Given the description of an element on the screen output the (x, y) to click on. 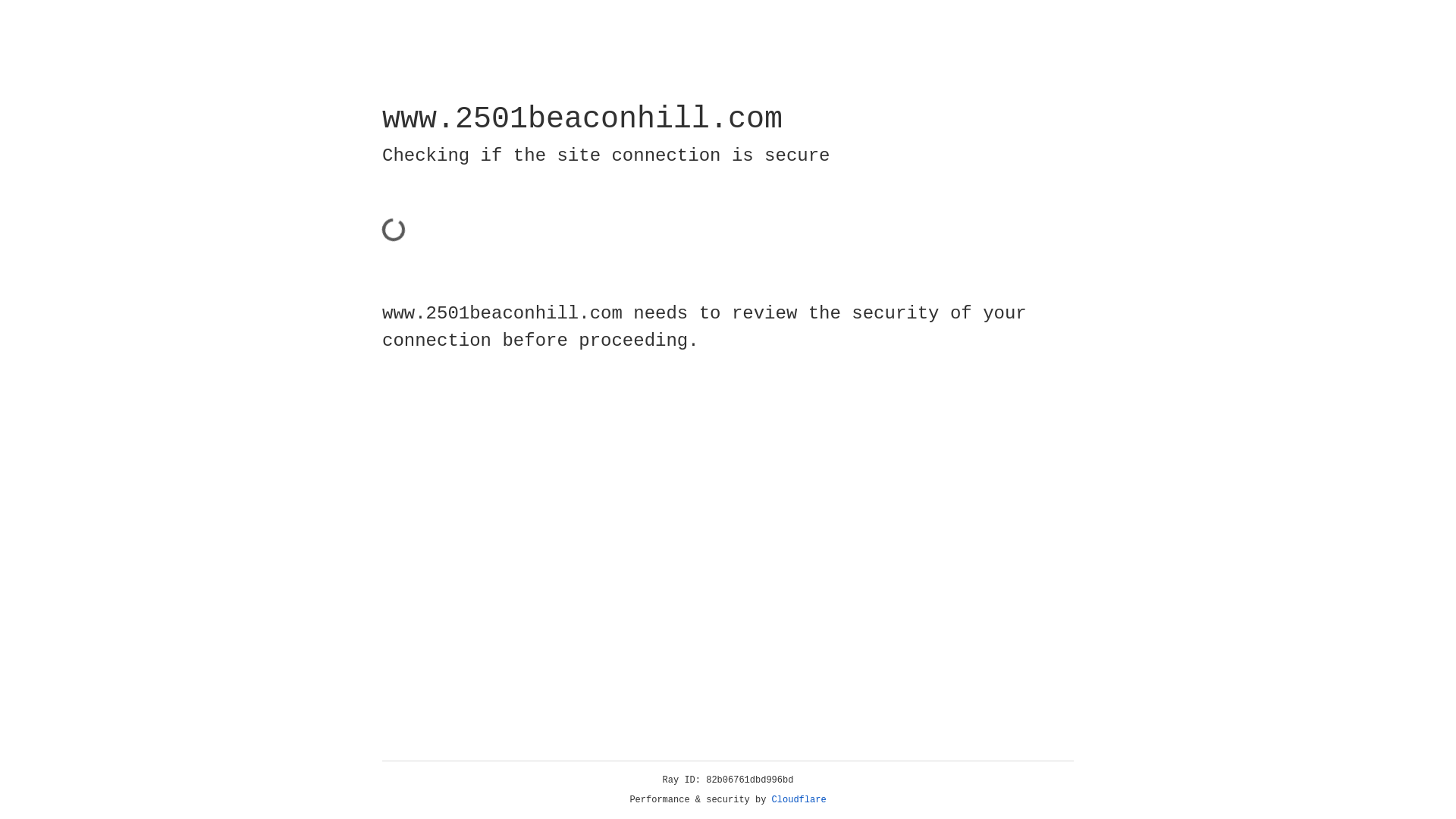
Cloudflare Element type: text (798, 799)
